Given the description of an element on the screen output the (x, y) to click on. 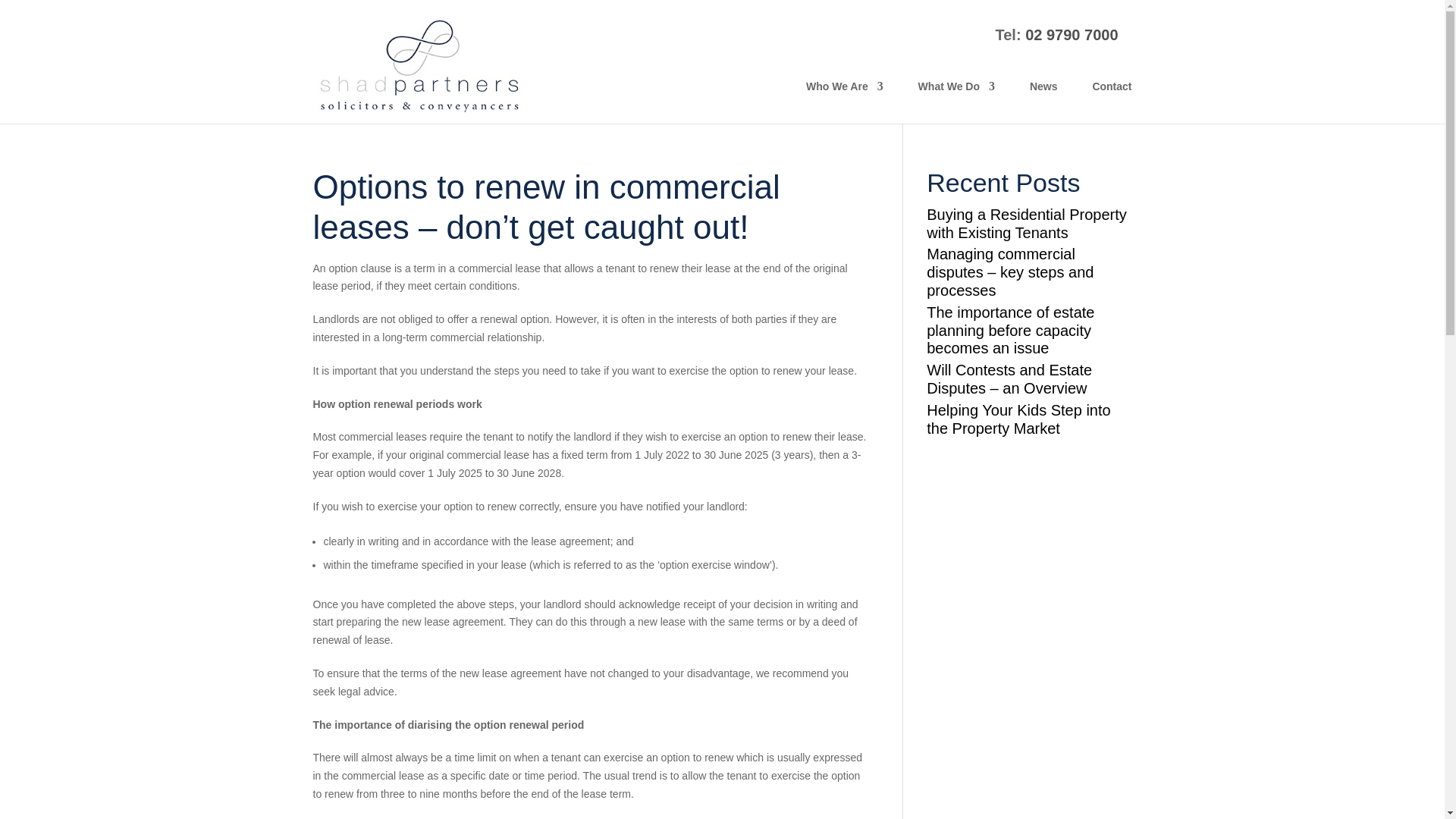
Contact (1111, 99)
News (1043, 99)
Buying a Residential Property with Existing Tenants (1028, 224)
What We Do (956, 99)
Who We Are (844, 99)
02 9790 7000 (1071, 34)
